Given the description of an element on the screen output the (x, y) to click on. 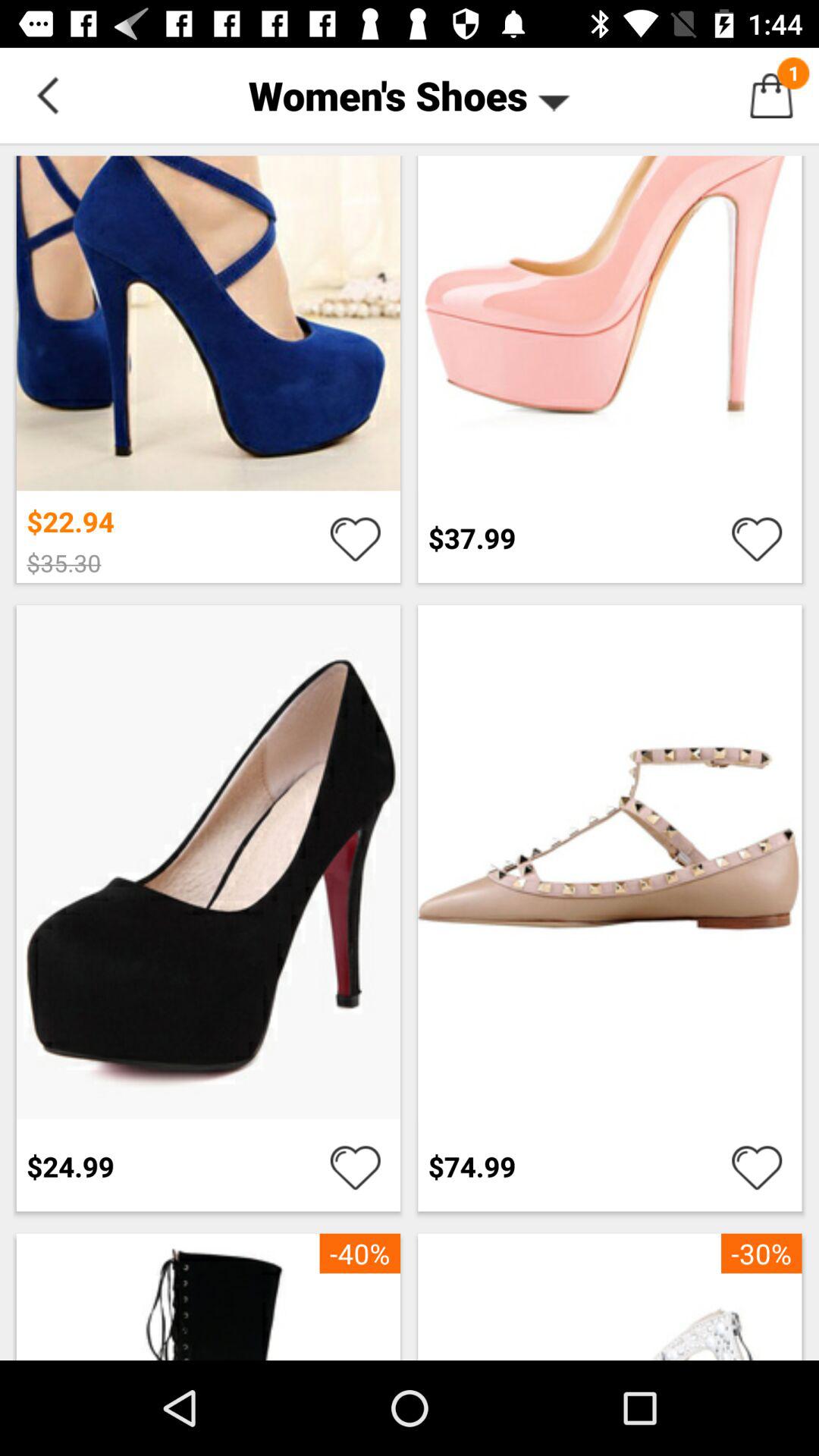
click on text which is left to cart icon (409, 95)
click on symbol which is  top right hand side (771, 95)
select  pink color shoe image (609, 317)
click on first row first image (208, 317)
click on the image which consists of 3799 (609, 367)
